Given the description of an element on the screen output the (x, y) to click on. 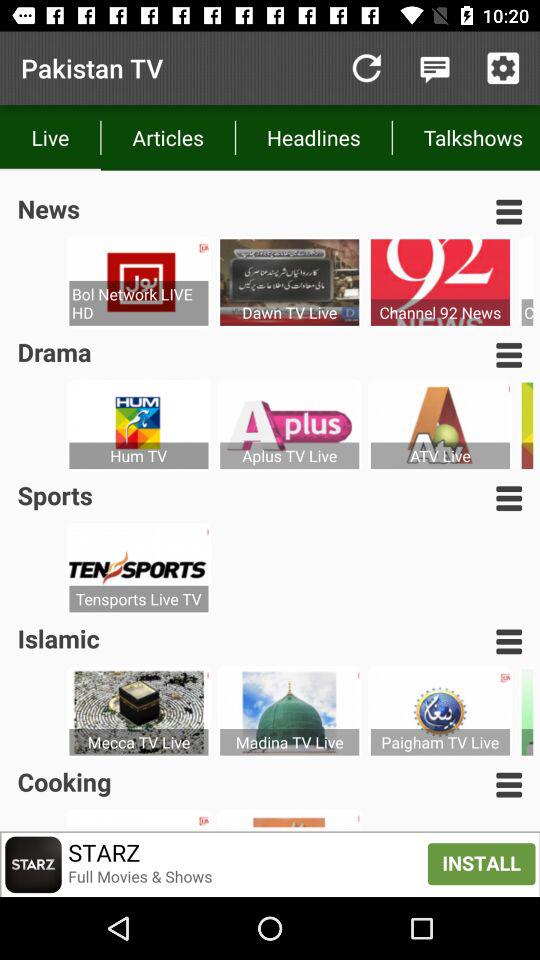
refress the page (366, 67)
